Given the description of an element on the screen output the (x, y) to click on. 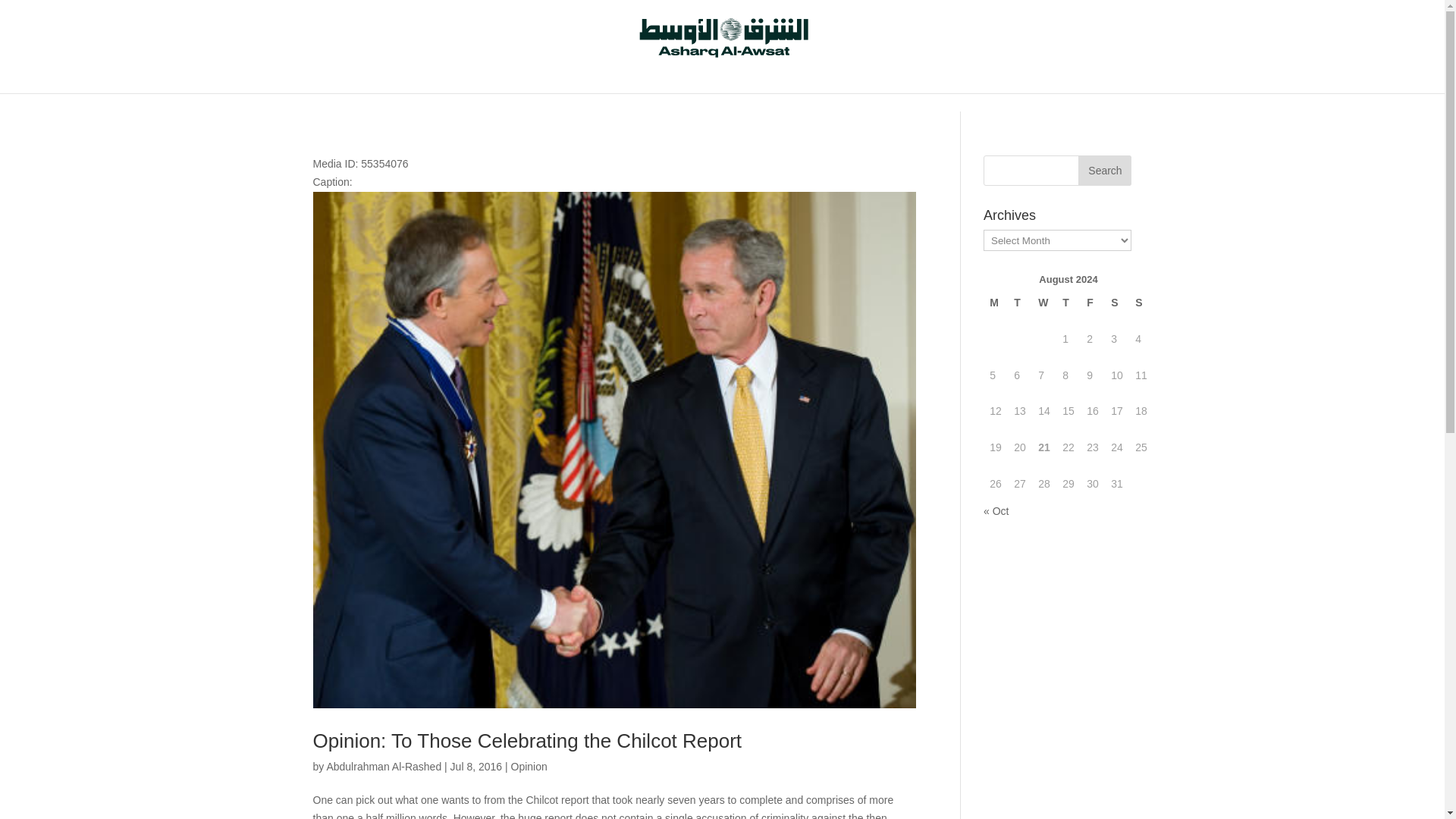
Opinion (529, 766)
Opinion: To Those Celebrating the Chilcot Report (527, 740)
Search (1104, 170)
Abdulrahman Al-Rashed (383, 766)
Search (1104, 170)
Posts by Abdulrahman Al-Rashed (383, 766)
